Given the description of an element on the screen output the (x, y) to click on. 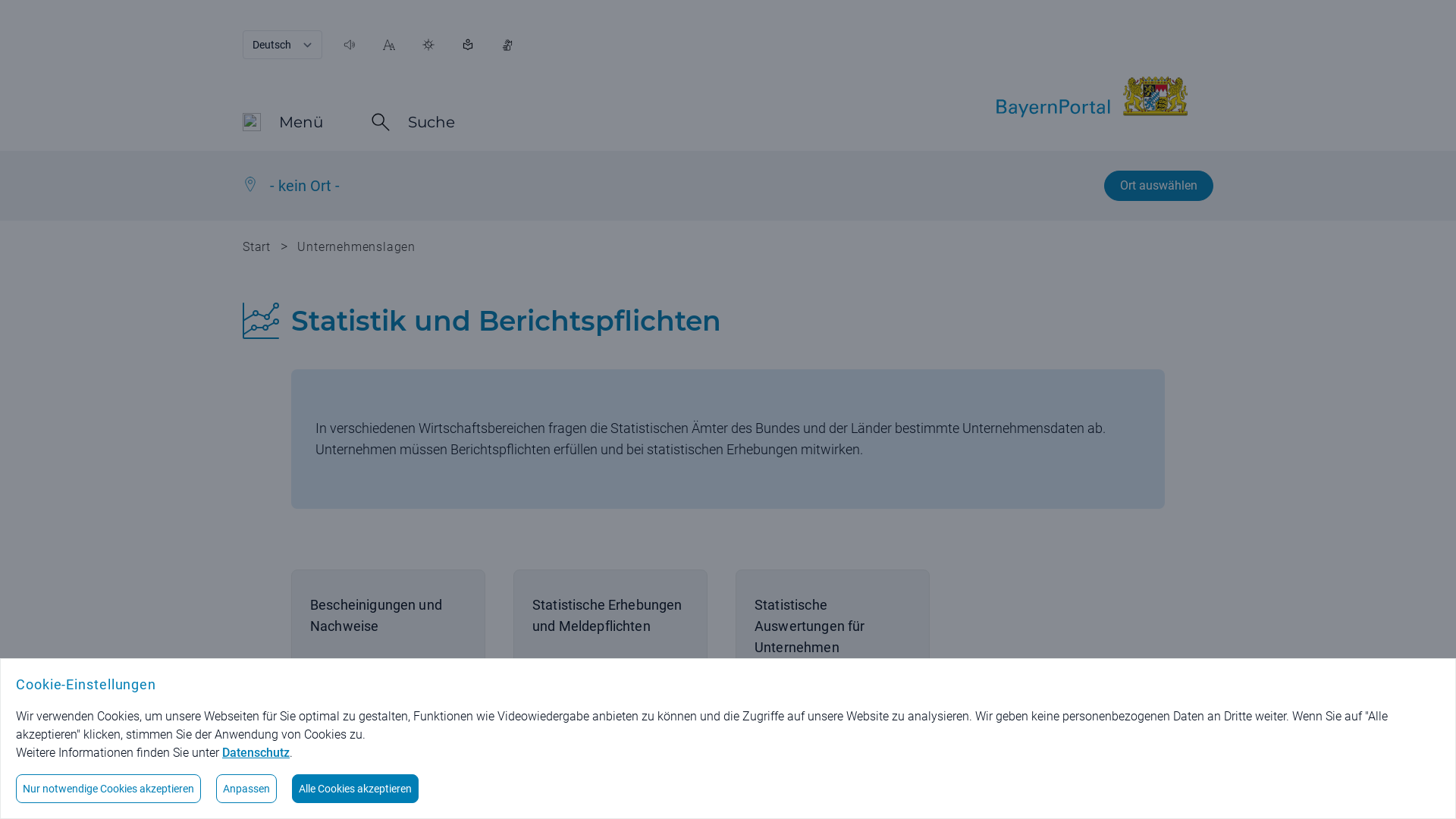
Bescheinigungen und Nachweise Element type: text (388, 660)
Suche Element type: text (413, 123)
Start Element type: text (256, 246)
Alle Cookies akzeptieren Element type: text (354, 788)
Statistische Erhebungen und Meldepflichten Element type: text (610, 660)
Anpassen Element type: text (246, 788)
Unternehmenslagen Element type: text (356, 246)
Datenschutz Element type: text (255, 752)
Nur notwendige Cookies akzeptieren Element type: text (107, 788)
